Given the description of an element on the screen output the (x, y) to click on. 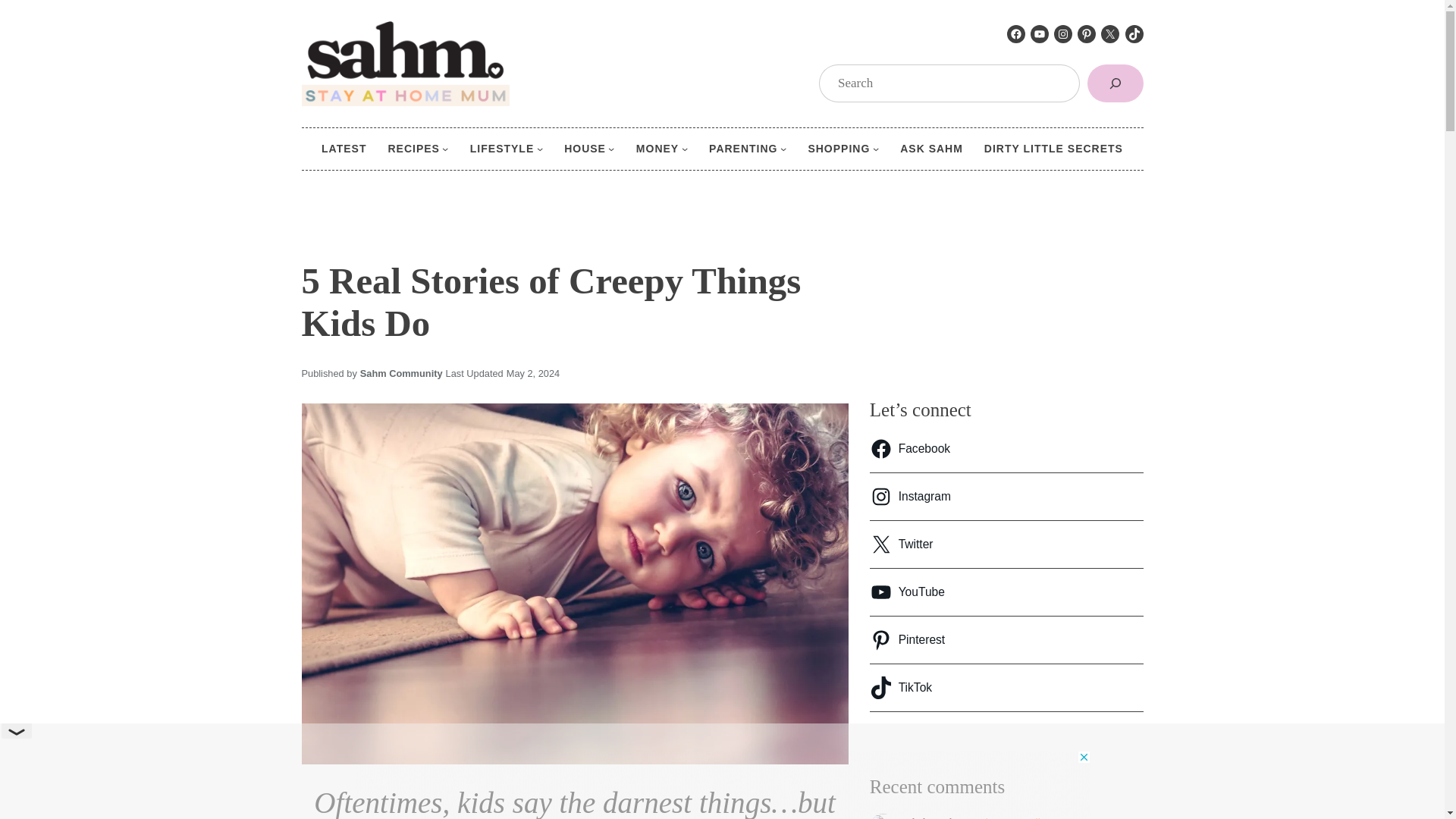
LATEST (343, 148)
LIFESTYLE (502, 148)
Facebook (1016, 34)
HOUSE (584, 148)
3rd party ad content (722, 785)
RECIPES (413, 148)
TikTok (1133, 34)
Pinterest (1086, 34)
X (1109, 34)
YouTube (1039, 34)
Instagram (1062, 34)
MONEY (657, 148)
